Given the description of an element on the screen output the (x, y) to click on. 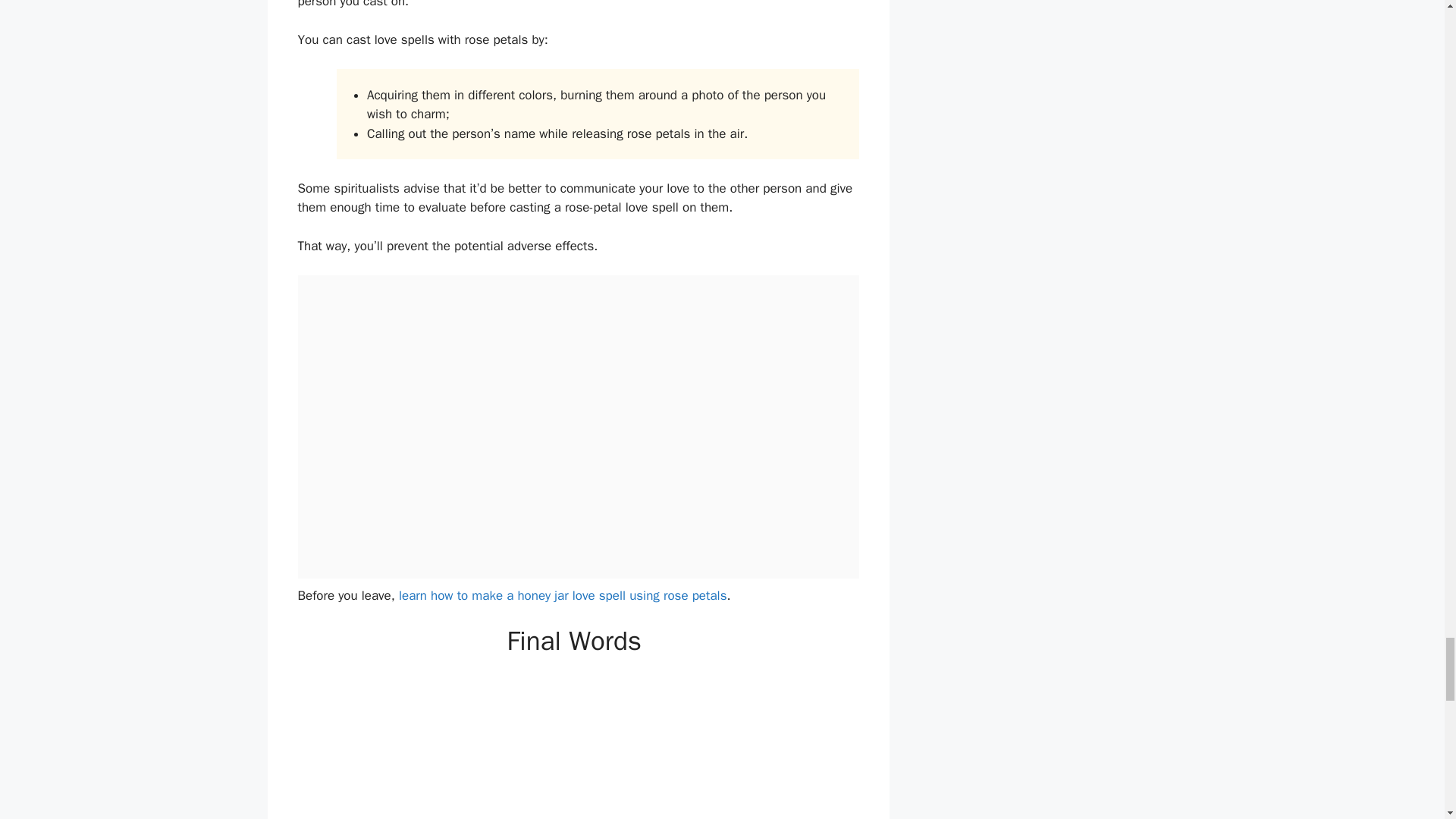
learn how to make a honey jar love spell using rose petals (562, 595)
